Given the description of an element on the screen output the (x, y) to click on. 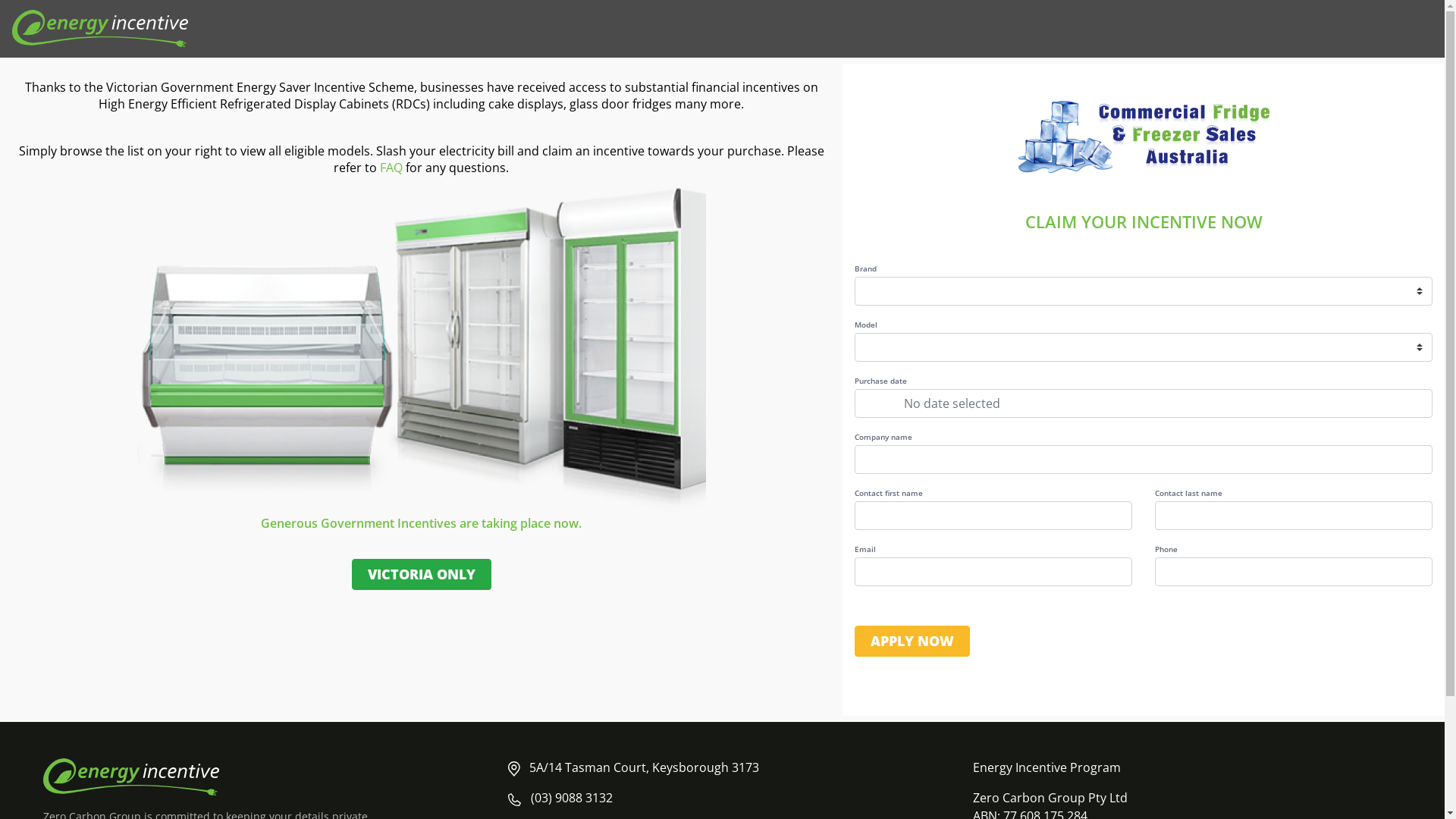
APPLY NOW Element type: text (911, 640)
(03) 9088 3132 Element type: text (571, 797)
VICTORIA ONLY Element type: text (421, 573)
FAQ Element type: text (390, 167)
